Given the description of an element on the screen output the (x, y) to click on. 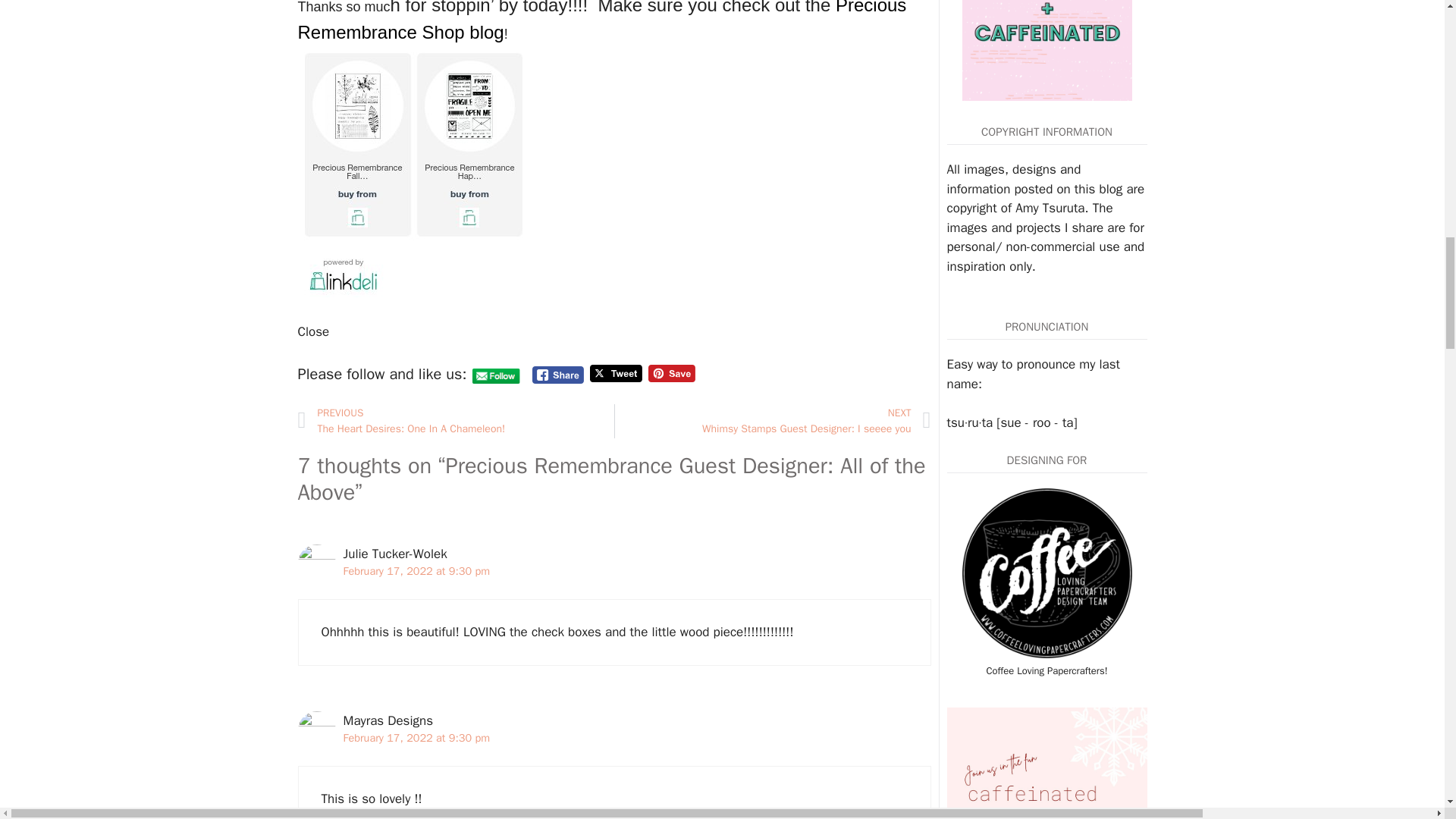
February 17, 2022 at 9:30 pm (415, 737)
February 17, 2022 at 9:30 pm (415, 571)
Pin Share (671, 373)
Precious Remembrance Shop blog (454, 421)
Tweet (601, 21)
Facebook Share (772, 421)
